Given the description of an element on the screen output the (x, y) to click on. 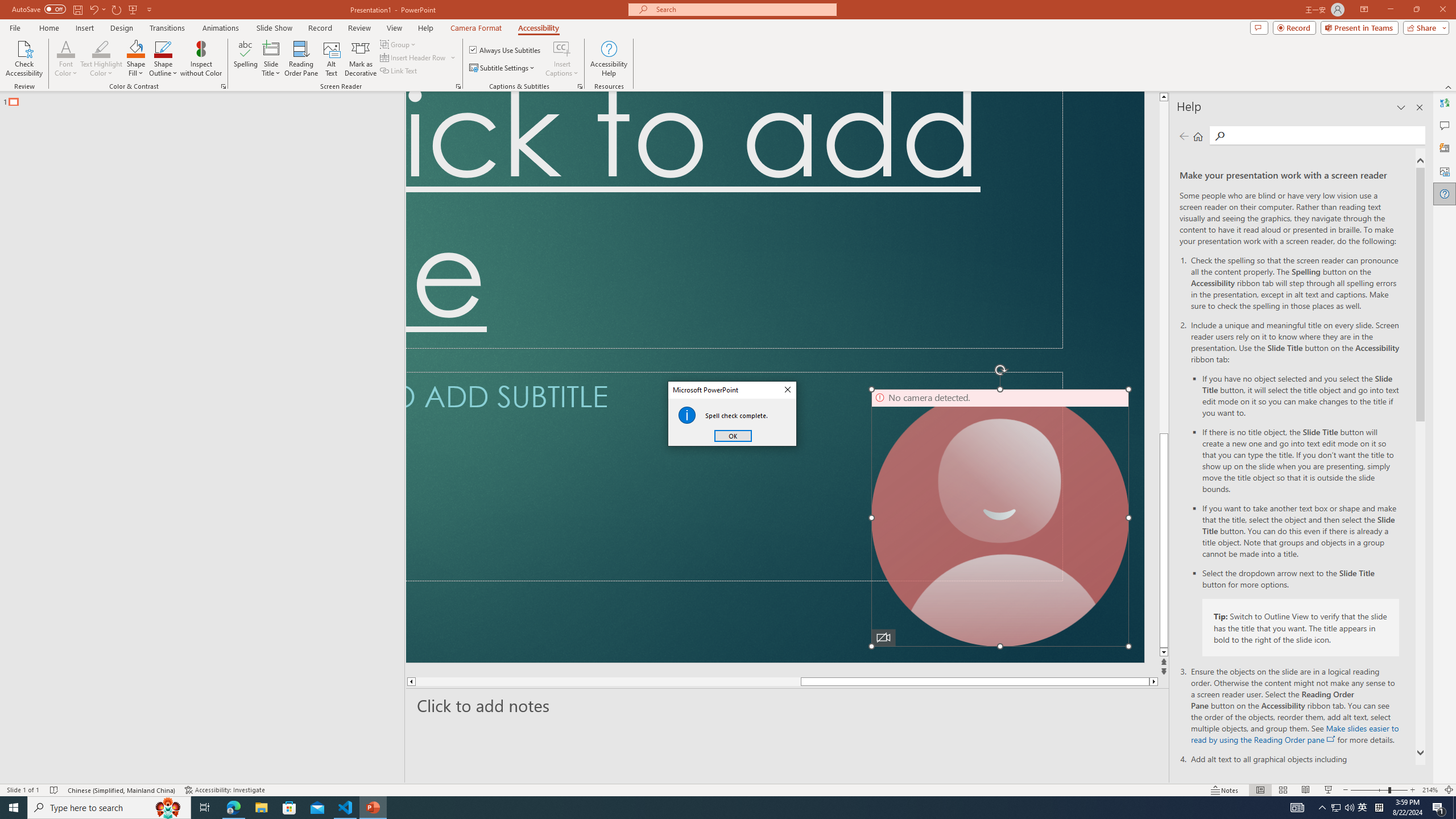
Restore Down (1394, 18)
Account (59, 722)
Class: NetUIScrollBar (1448, 427)
